Given the description of an element on the screen output the (x, y) to click on. 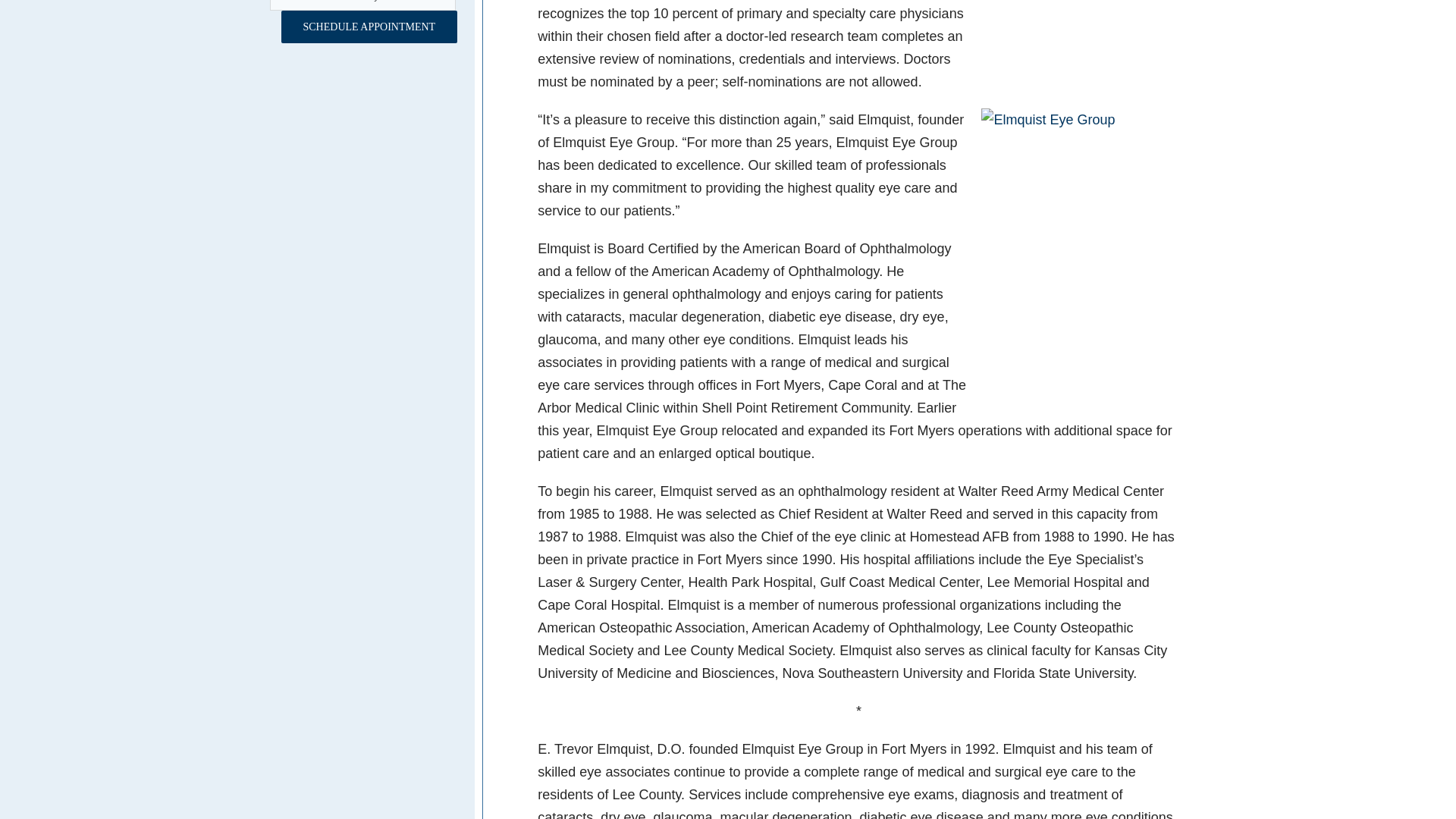
Elmquist Eye Group (1084, 46)
